Given the description of an element on the screen output the (x, y) to click on. 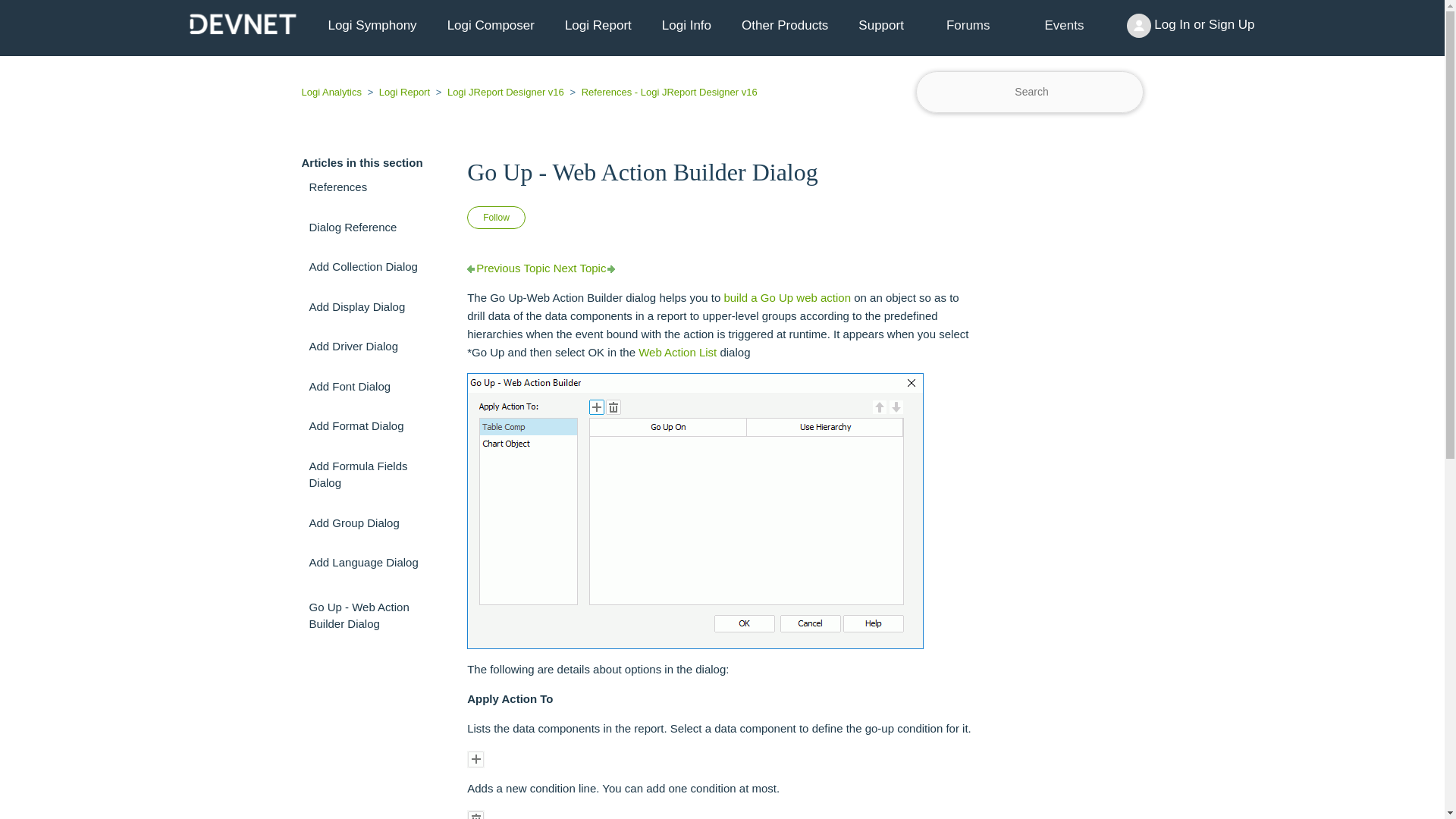
Go Up - Web Action Builder Dialog (721, 171)
Log In or Sign Up (1190, 25)
Logi JReport Designer v16 (499, 91)
Events (1064, 25)
Support (880, 25)
Other Products (784, 25)
Logi Analytics (333, 91)
Logi Info (686, 25)
Forums (967, 25)
Forums (968, 24)
